Given the description of an element on the screen output the (x, y) to click on. 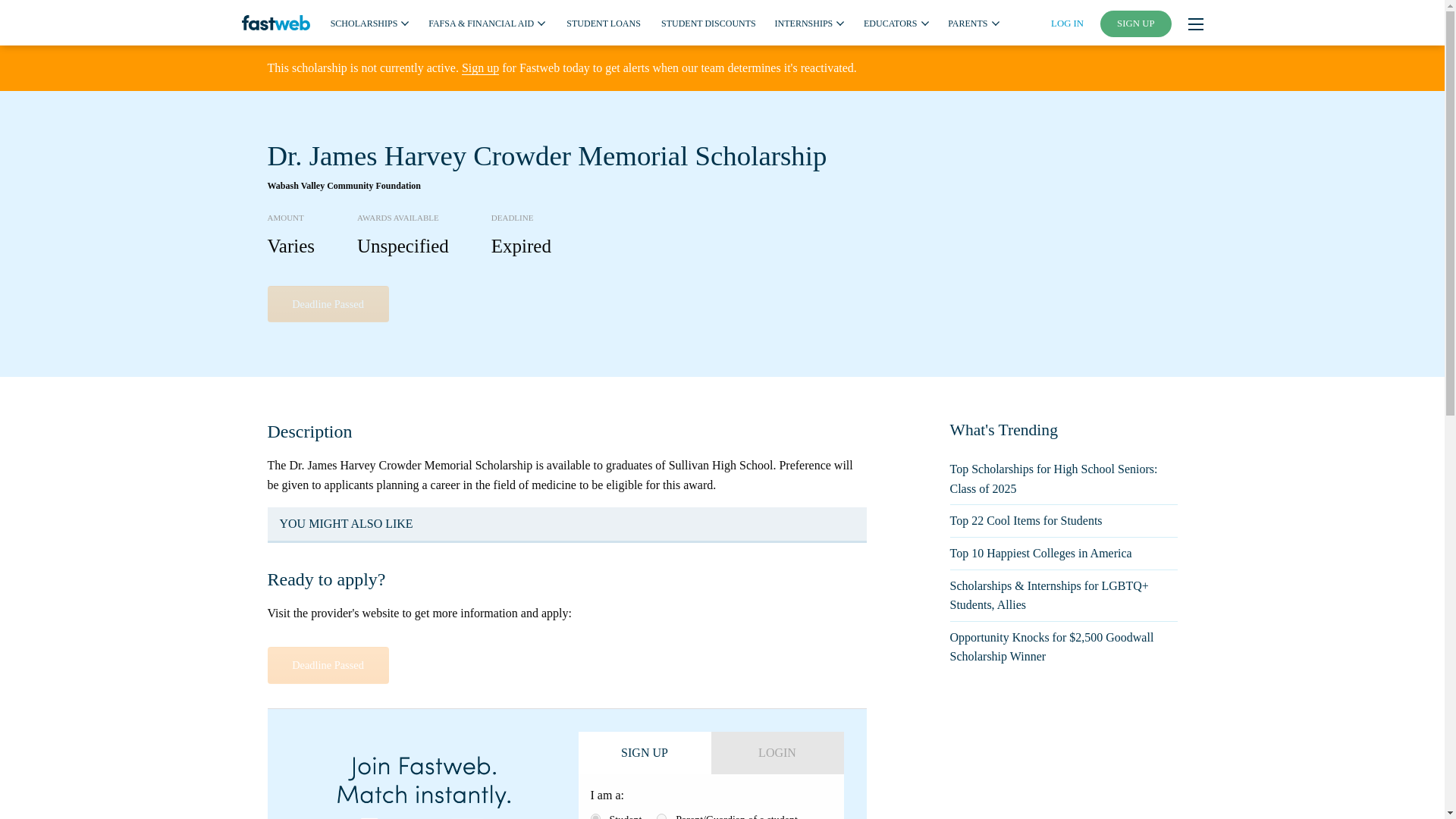
1 (594, 816)
LOG IN (1067, 23)
SIGN UP (1136, 23)
2 (661, 816)
STUDENT LOANS (603, 22)
STUDENT DISCOUNTS (708, 22)
